Given the description of an element on the screen output the (x, y) to click on. 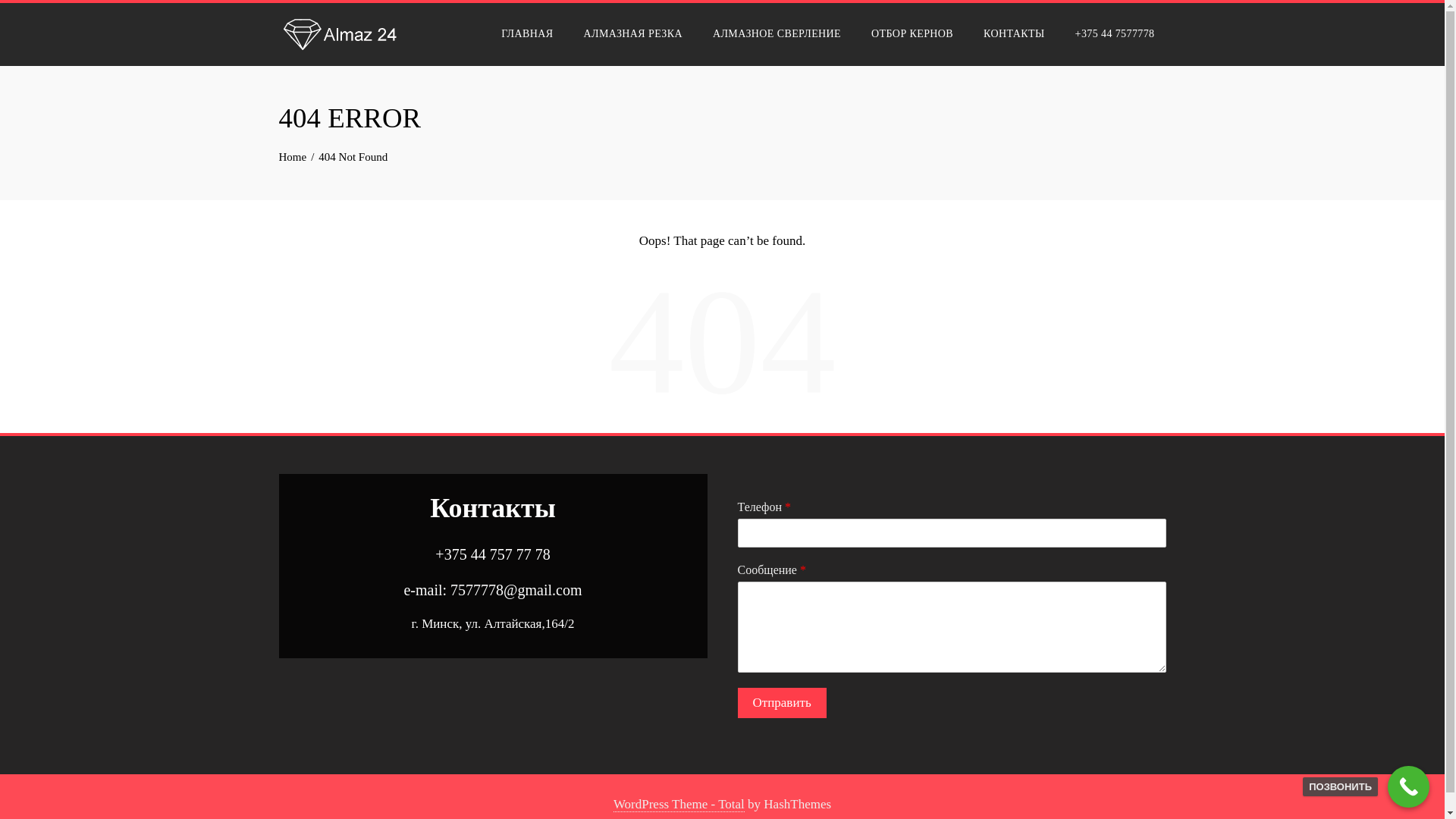
+375 44 7577778 Element type: text (1114, 34)
Home Element type: text (293, 156)
WordPress Theme - Total Element type: text (678, 804)
